Given the description of an element on the screen output the (x, y) to click on. 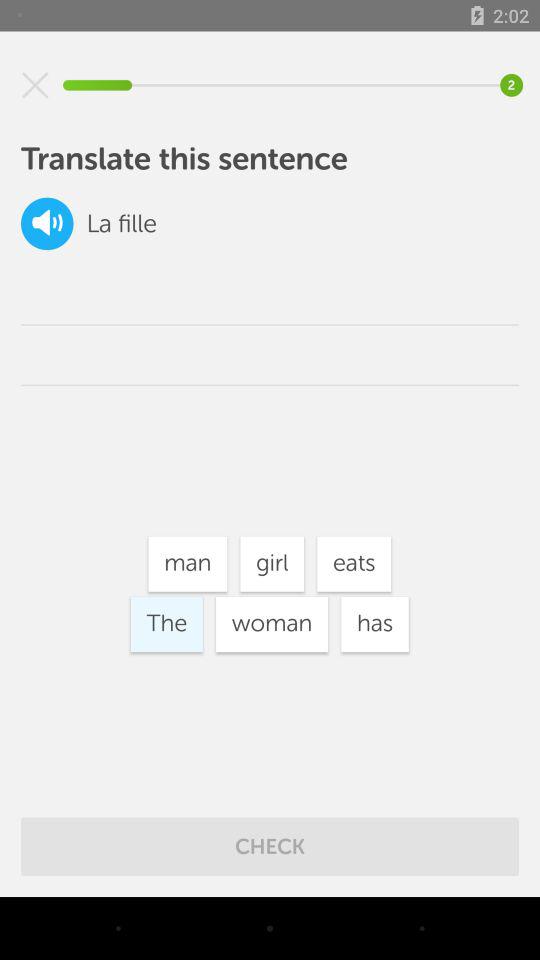
turn off the la item (98, 223)
